Given the description of an element on the screen output the (x, y) to click on. 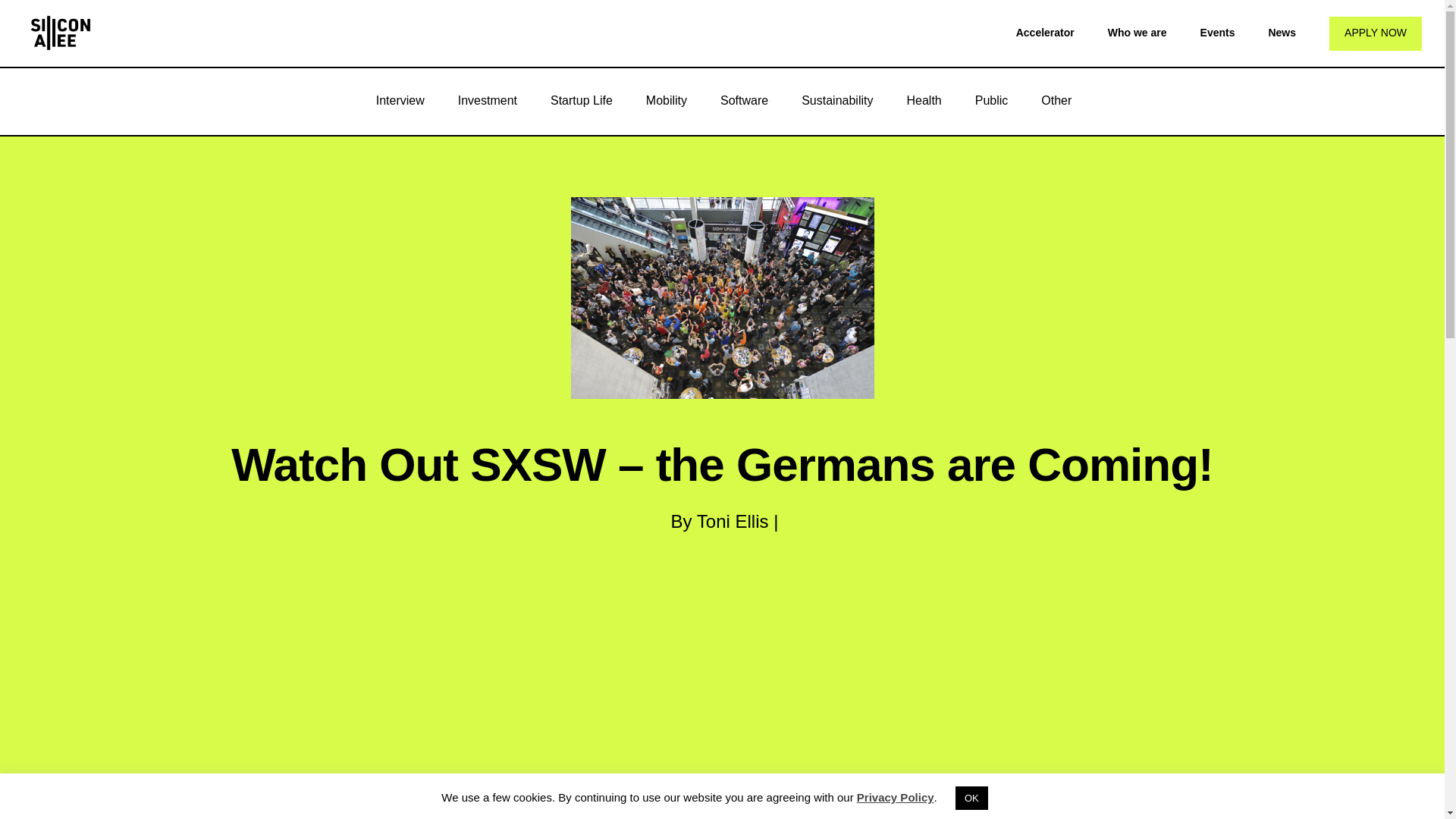
APPLY NOW (1375, 33)
News (1281, 31)
Public (991, 100)
Health (923, 100)
Software (743, 100)
Other (1056, 100)
Accelerator (1045, 31)
Sustainability (837, 100)
Events (1216, 31)
Who we are (1137, 31)
